Given the description of an element on the screen output the (x, y) to click on. 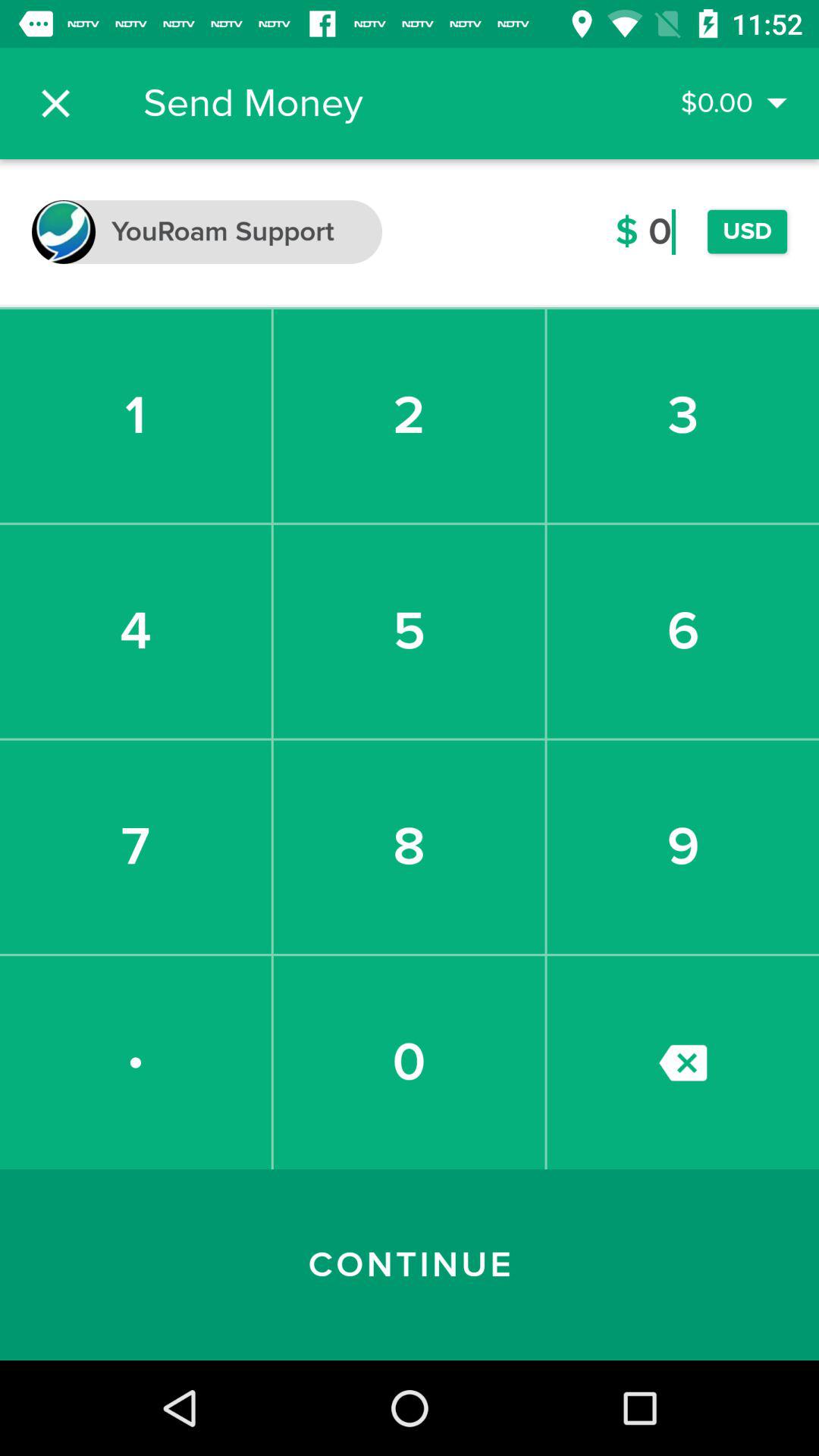
swipe until the 6 item (683, 631)
